Given the description of an element on the screen output the (x, y) to click on. 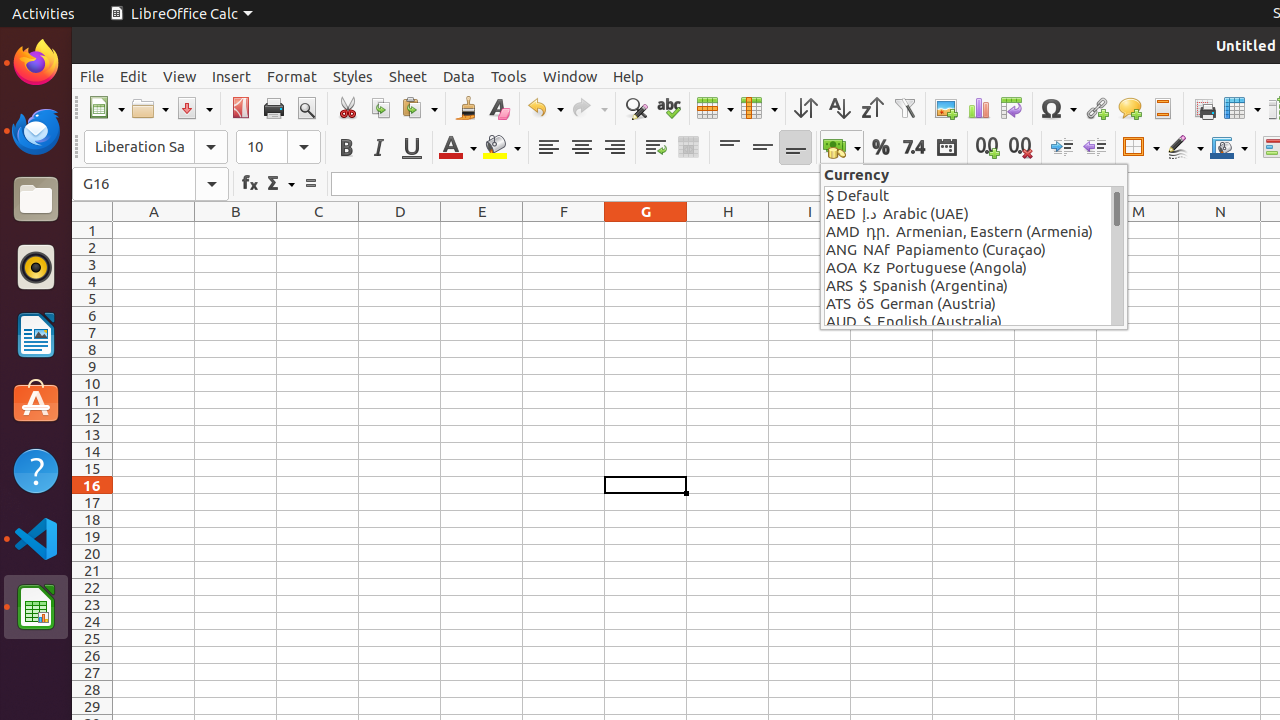
Format Element type: menu (292, 76)
F1 Element type: table-cell (564, 230)
Underline Element type: push-button (411, 147)
‪AMD‬  ‪դր.‬  ‪Armenian, Eastern (Armenia)‬ Element type: list-item (968, 231)
Decrease Element type: push-button (1094, 147)
